Given the description of an element on the screen output the (x, y) to click on. 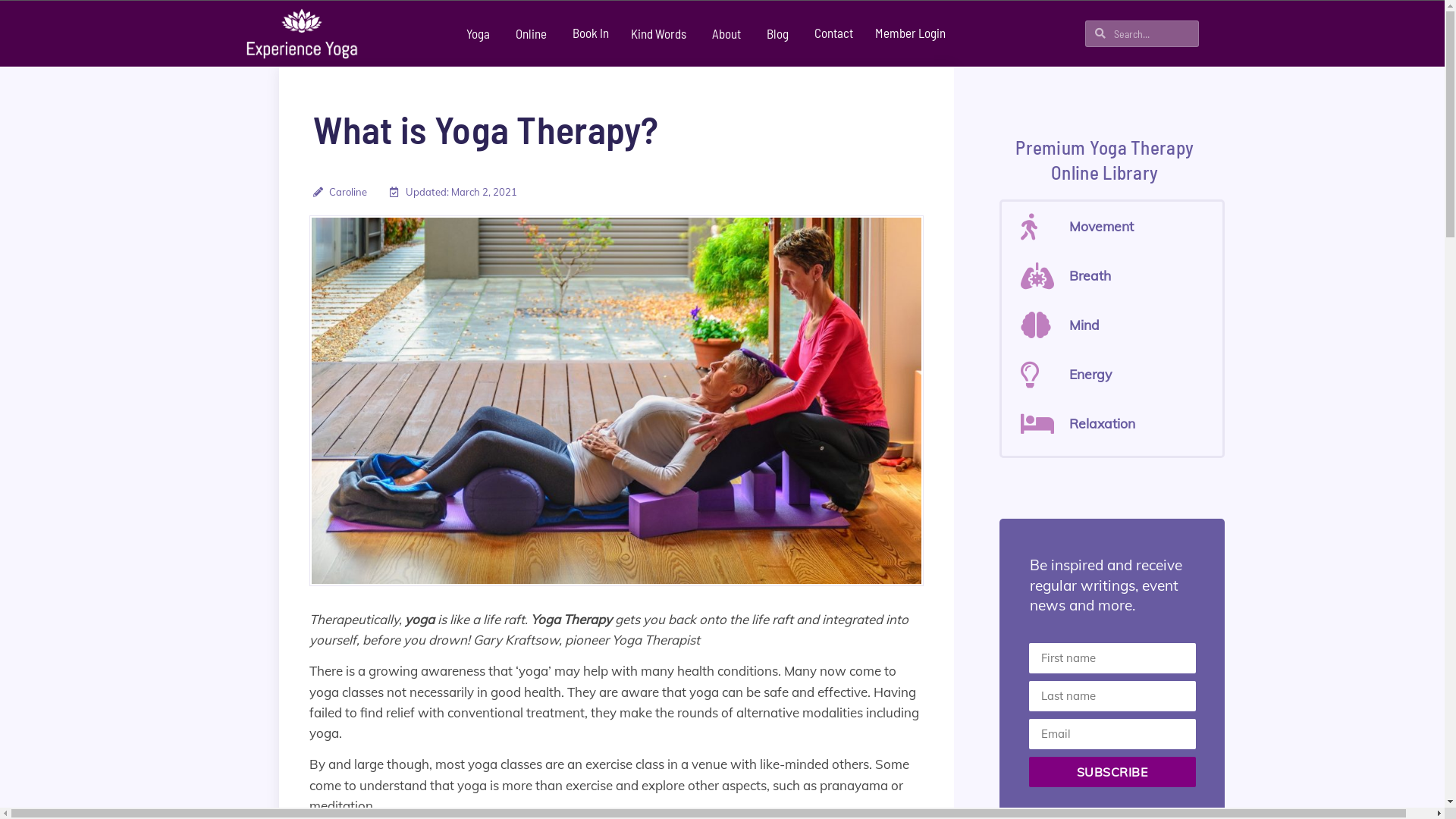
Breath Element type: text (1115, 275)
Book In Element type: text (590, 32)
Contact Element type: text (833, 32)
Blog Element type: text (779, 32)
Movement Element type: text (1115, 226)
SUBSCRIBE Element type: text (1112, 771)
What is Yoga Therapy Element type: hover (615, 400)
Online Element type: text (532, 32)
Search Element type: hover (1151, 33)
Relaxation Element type: text (1115, 423)
About Element type: text (728, 32)
Kind Words Element type: text (660, 32)
Member Login Element type: text (910, 32)
Mind Element type: text (1115, 324)
Yoga Element type: text (479, 32)
Energy Element type: text (1115, 373)
